Given the description of an element on the screen output the (x, y) to click on. 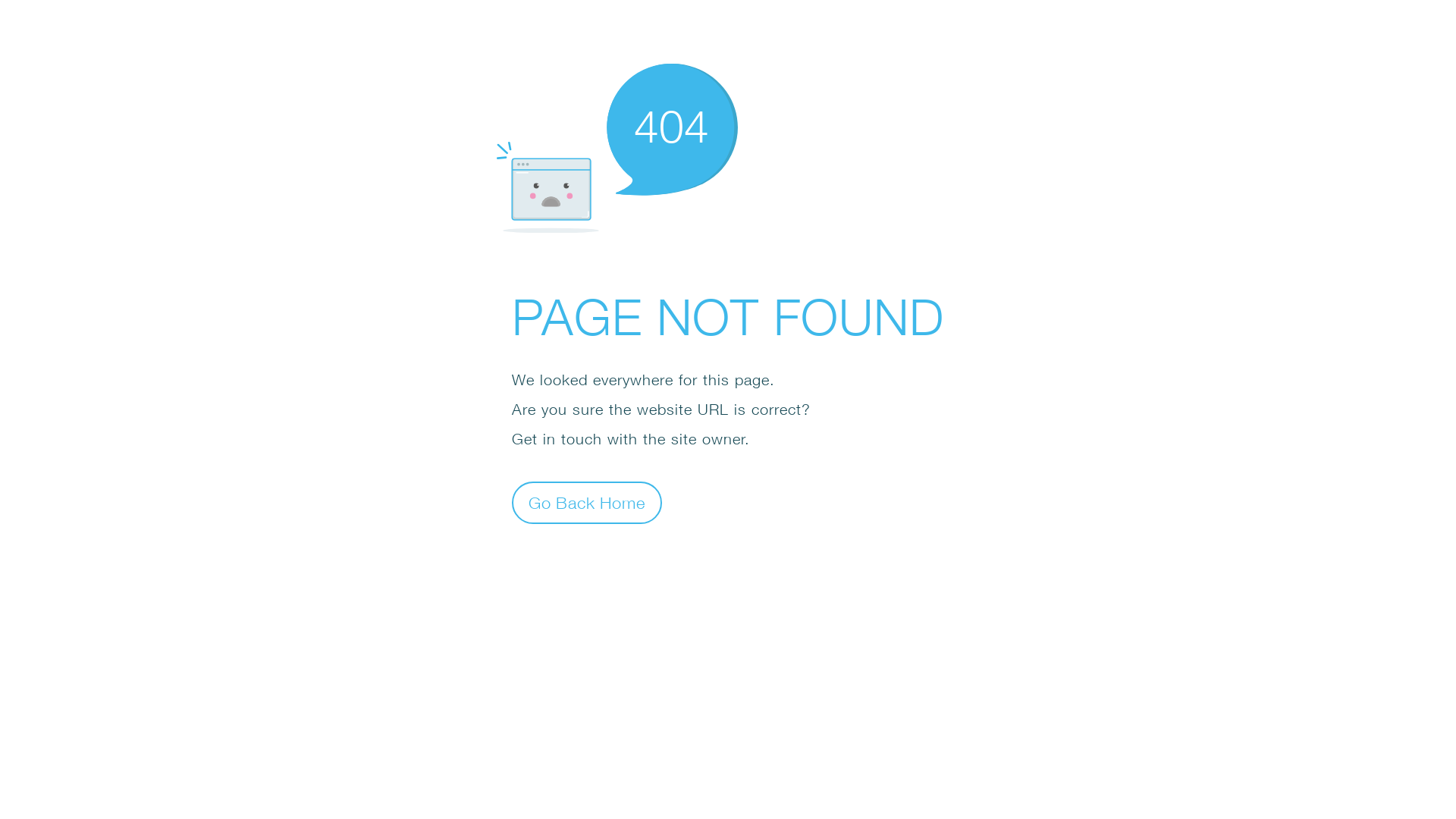
Go Back Home Element type: text (586, 502)
